Given the description of an element on the screen output the (x, y) to click on. 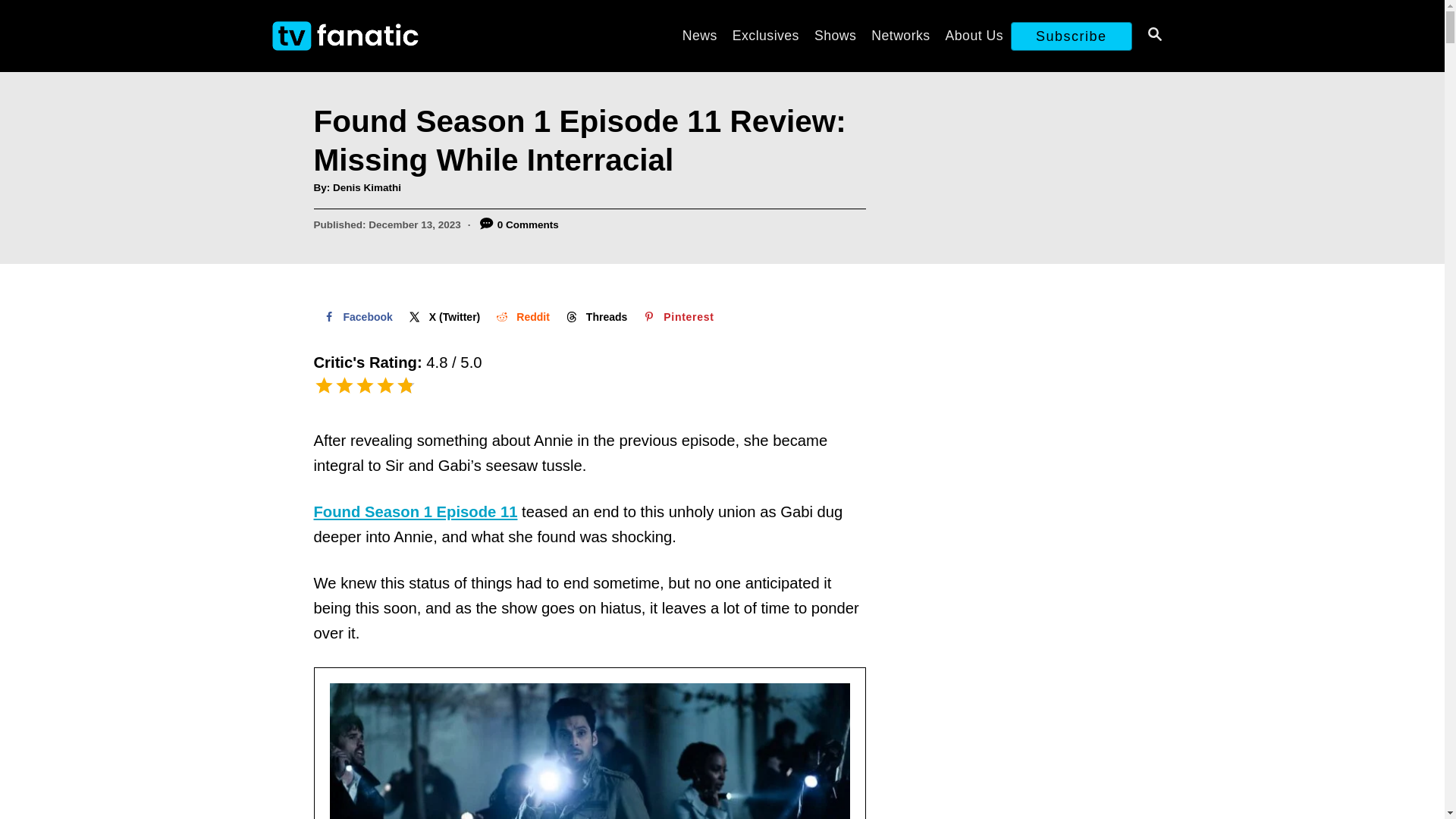
Share on X (442, 317)
Share on Threads (594, 317)
Save to Pinterest (676, 317)
Networks (900, 35)
Share on Facebook (356, 317)
TV Fanatic (403, 36)
SEARCH (1153, 35)
Shows (834, 35)
News (700, 35)
Exclusives (765, 35)
Share on Reddit (521, 317)
